Given the description of an element on the screen output the (x, y) to click on. 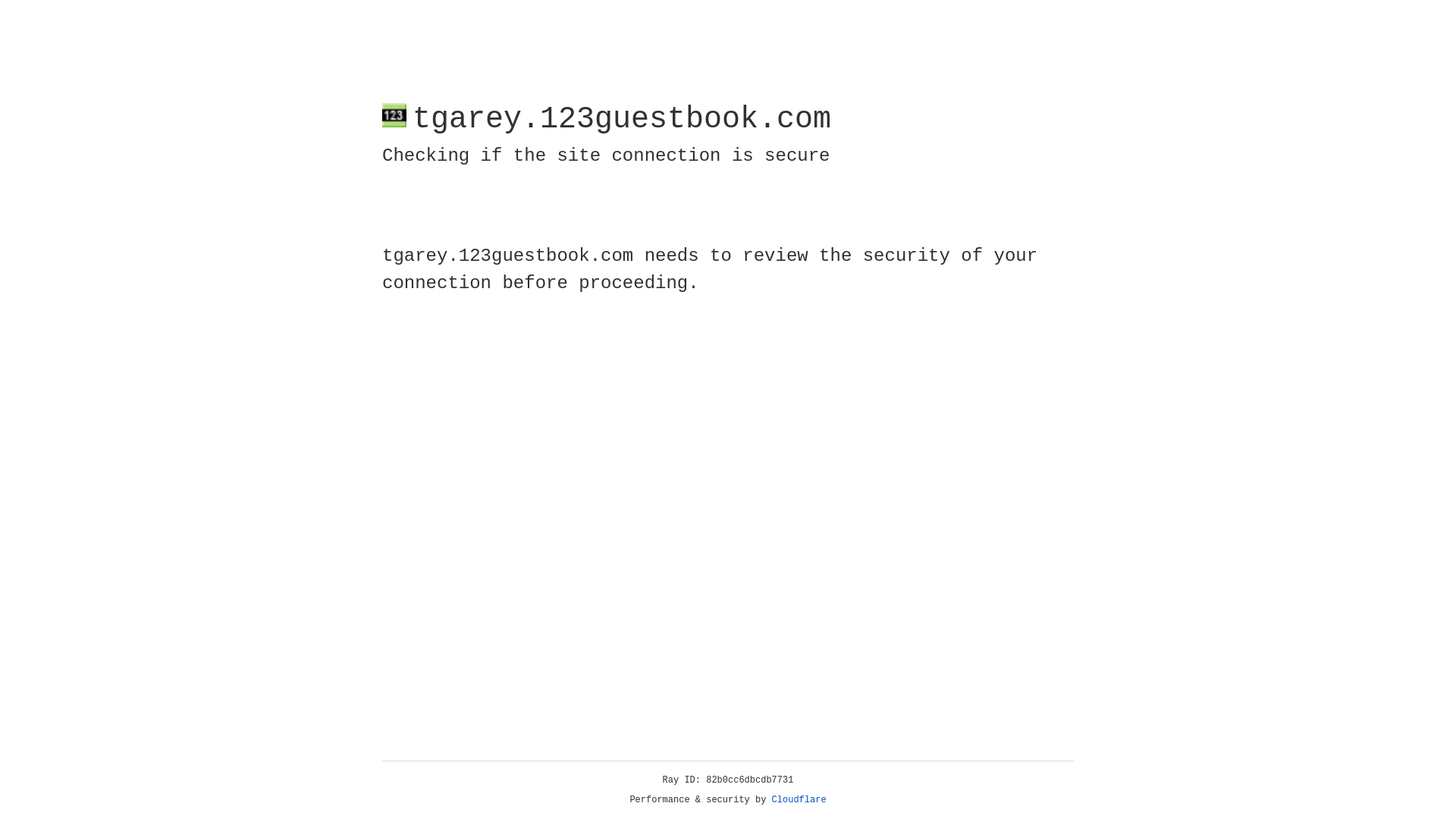
Cloudflare Element type: text (798, 799)
